Given the description of an element on the screen output the (x, y) to click on. 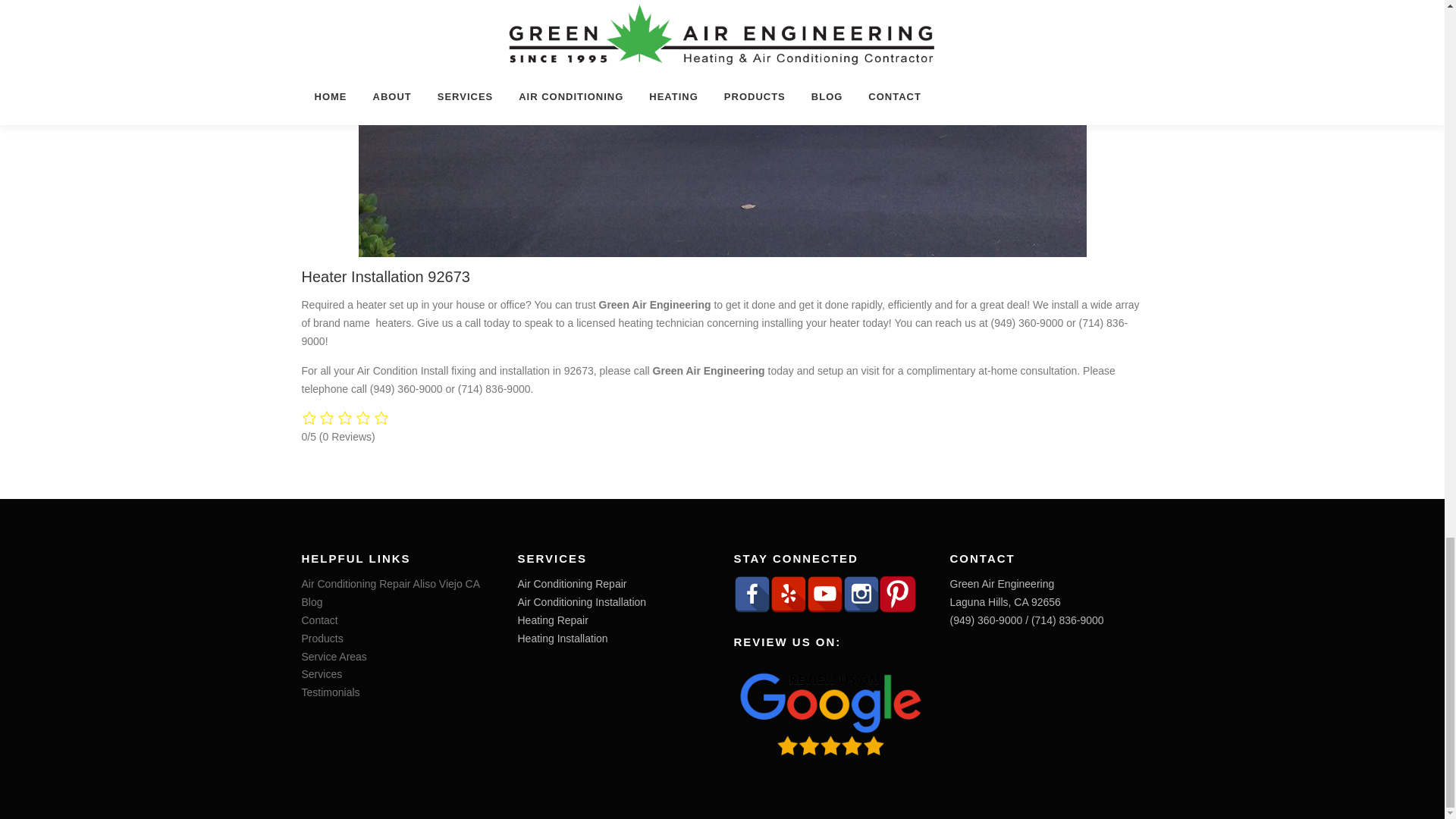
Blog (312, 602)
Contact (319, 620)
Products (322, 638)
Service Areas (333, 656)
Air Conditioning Repair Aliso Viejo CA (390, 583)
